Given the description of an element on the screen output the (x, y) to click on. 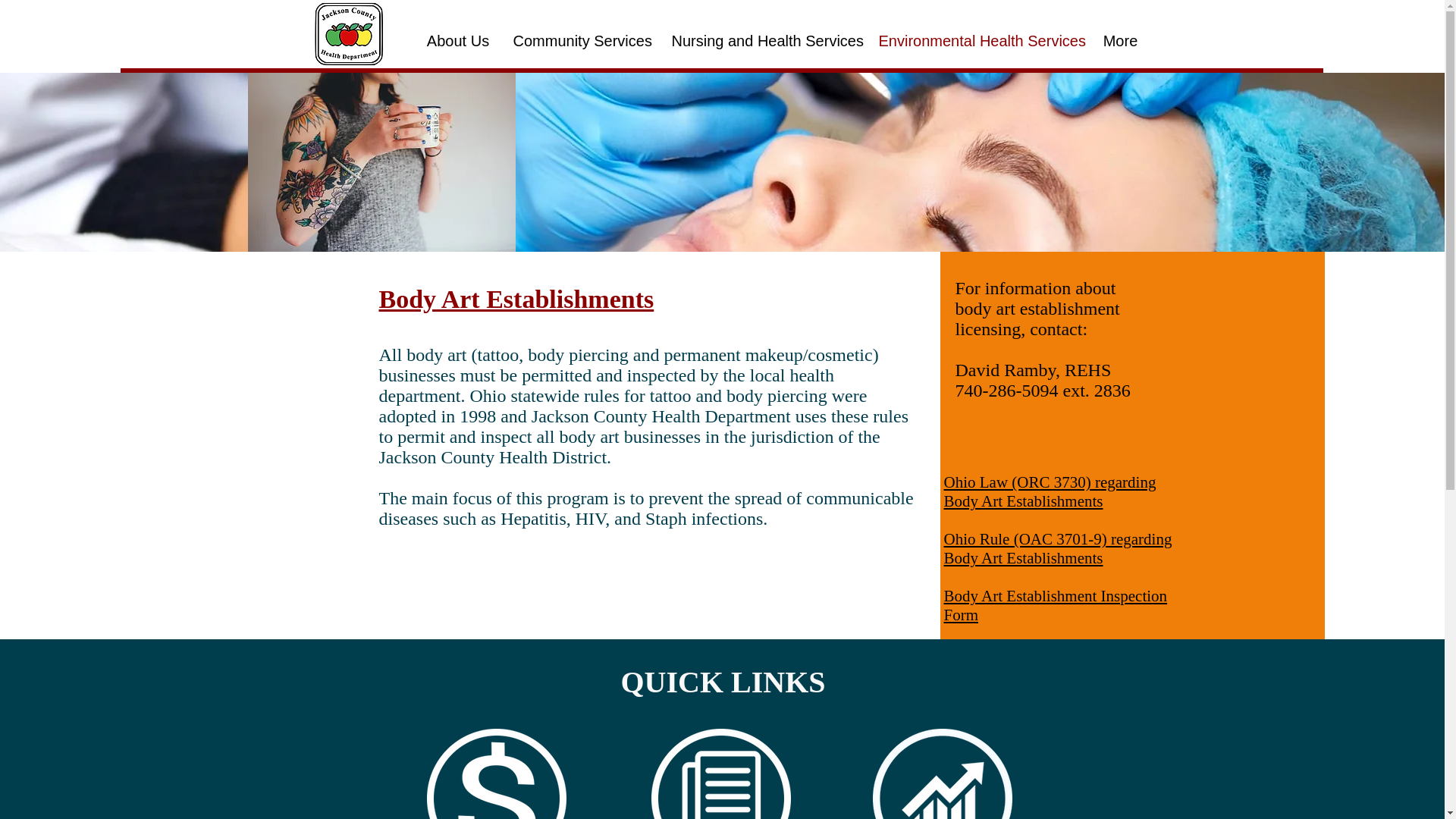
Environmental Health Services (977, 40)
Community Services (581, 40)
Nursing and Health Services (762, 40)
About Us (456, 40)
